Given the description of an element on the screen output the (x, y) to click on. 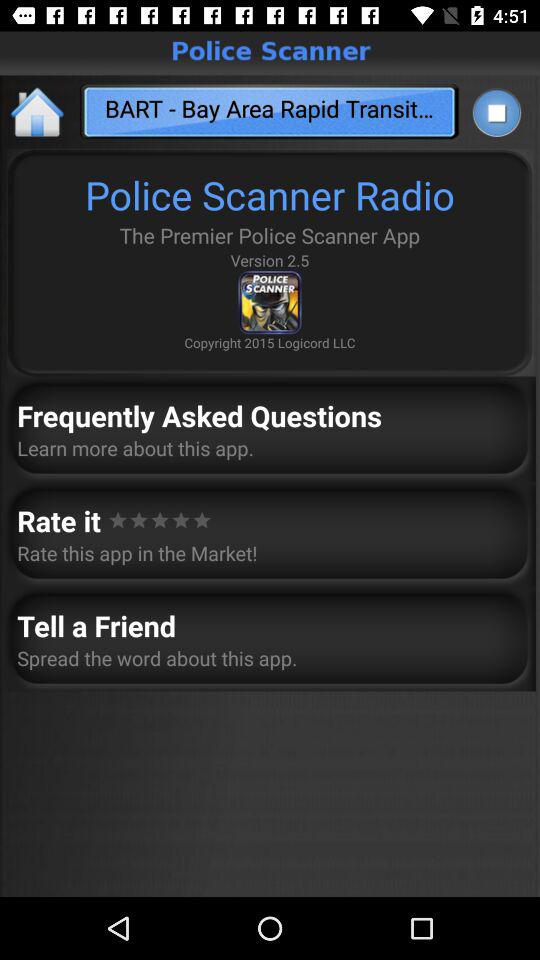
launch the app next to bart bay area (496, 111)
